Given the description of an element on the screen output the (x, y) to click on. 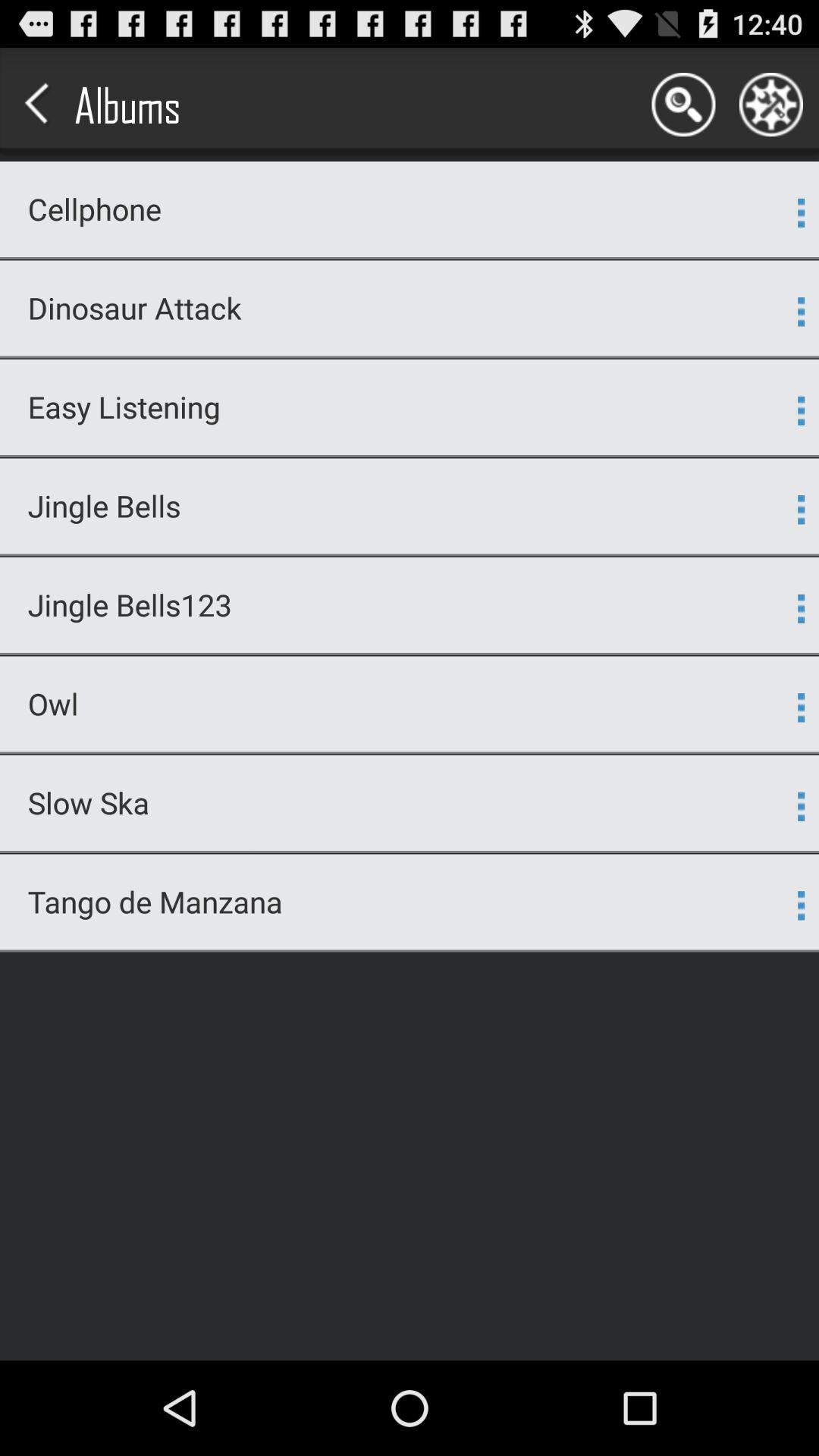
select item next to the owl icon (800, 707)
